Given the description of an element on the screen output the (x, y) to click on. 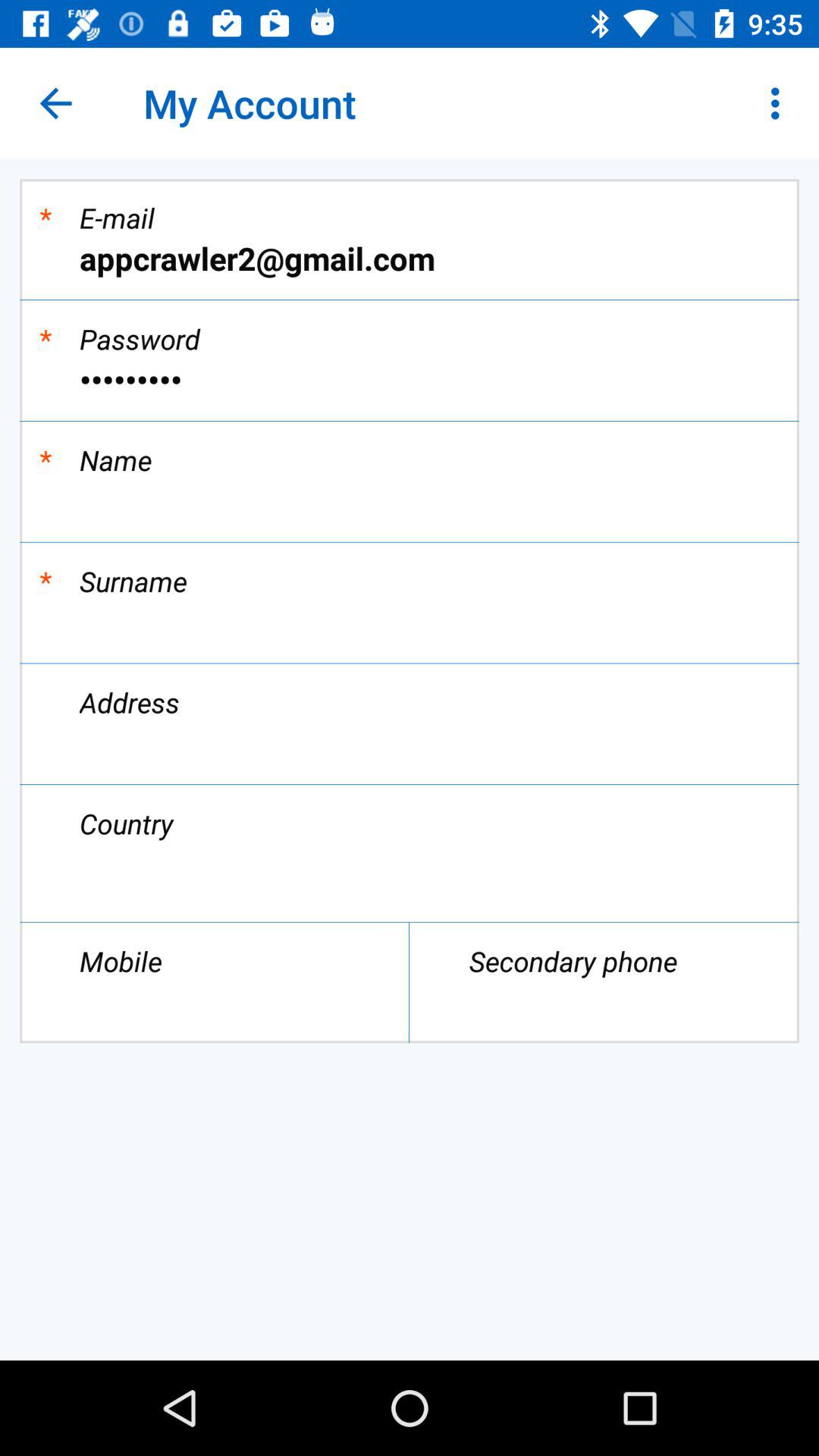
press icon above the appcrawler2@gmail.com icon (779, 103)
